Given the description of an element on the screen output the (x, y) to click on. 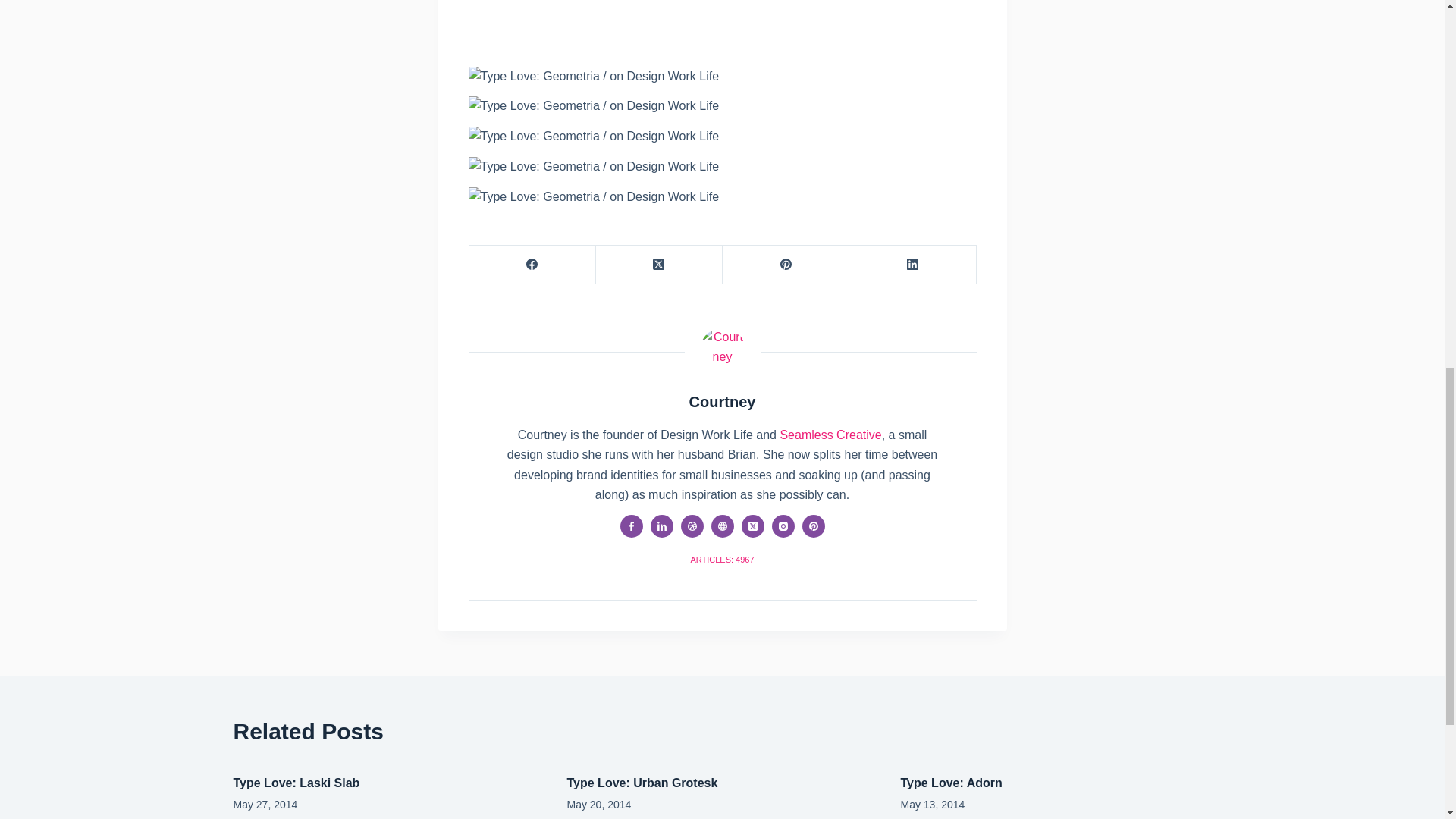
Type Love: Urban Grotesk (642, 782)
ARTICLES: 4967 (722, 559)
Type Love: Adorn (952, 782)
Seamless Creative (829, 434)
Type Love: Laski Slab (295, 782)
